Given the description of an element on the screen output the (x, y) to click on. 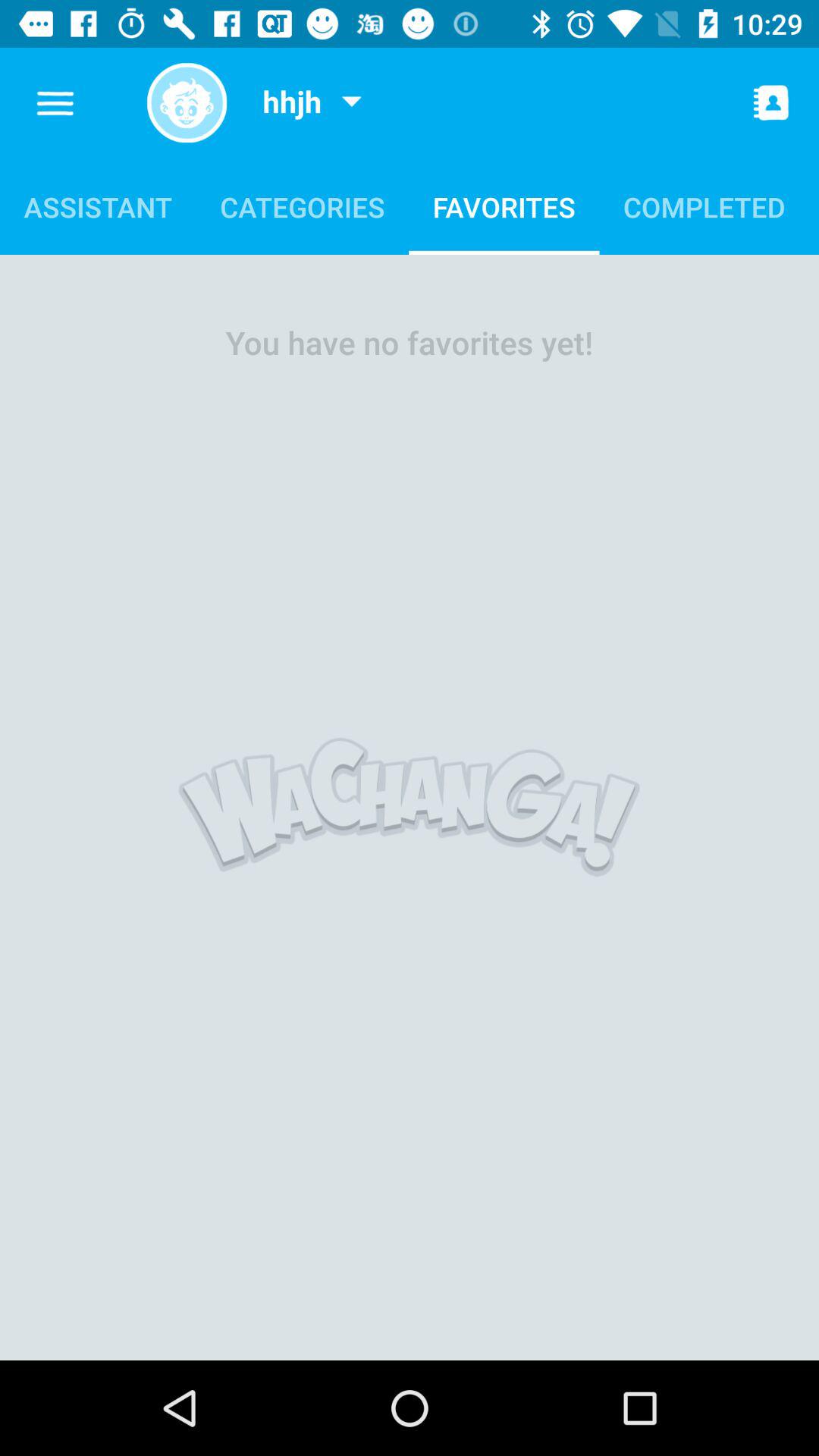
turn off the item above categories (351, 102)
